Given the description of an element on the screen output the (x, y) to click on. 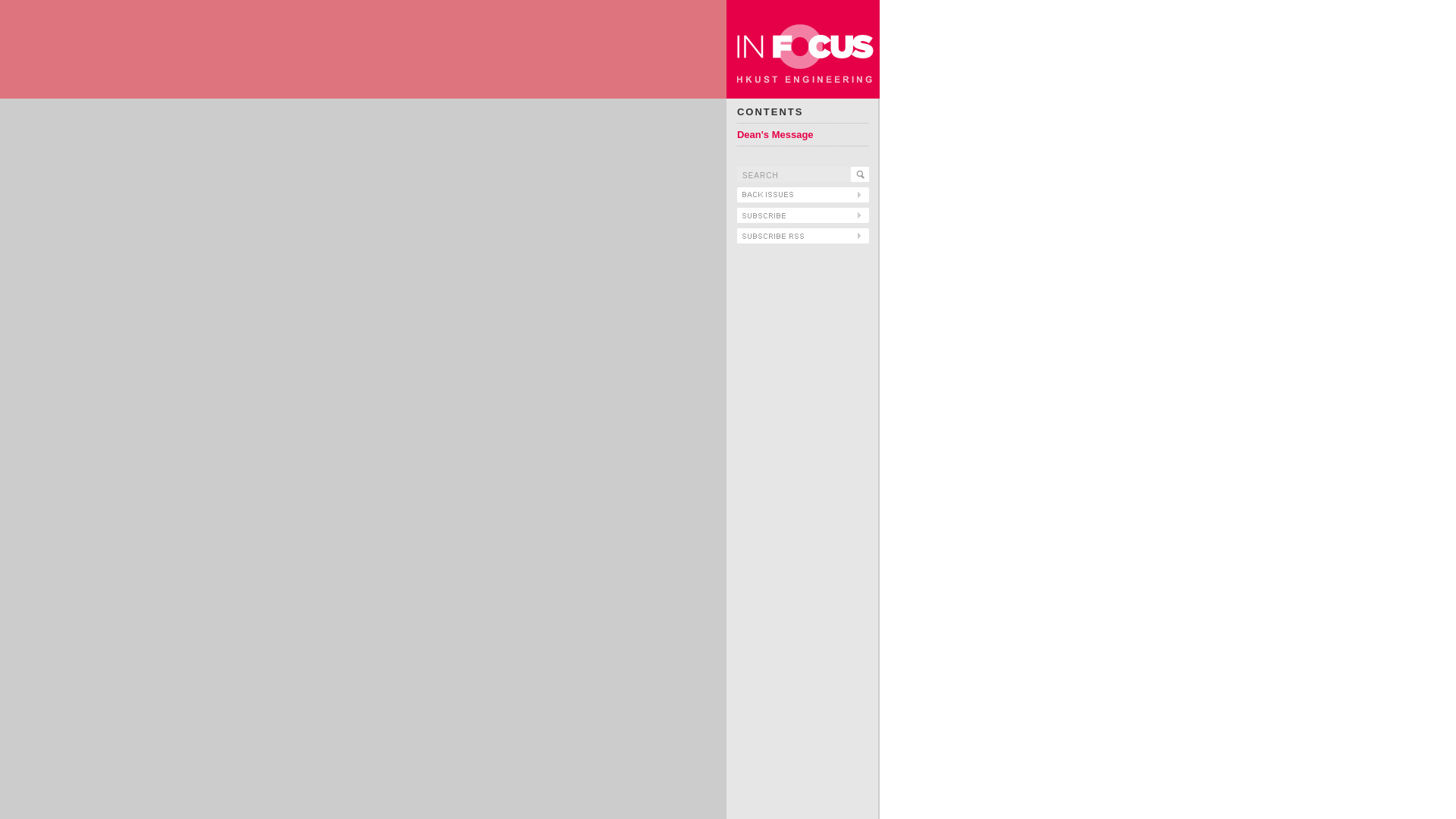
Dean's Message (774, 134)
SEARCH (793, 174)
CONTENTS (769, 111)
